Given the description of an element on the screen output the (x, y) to click on. 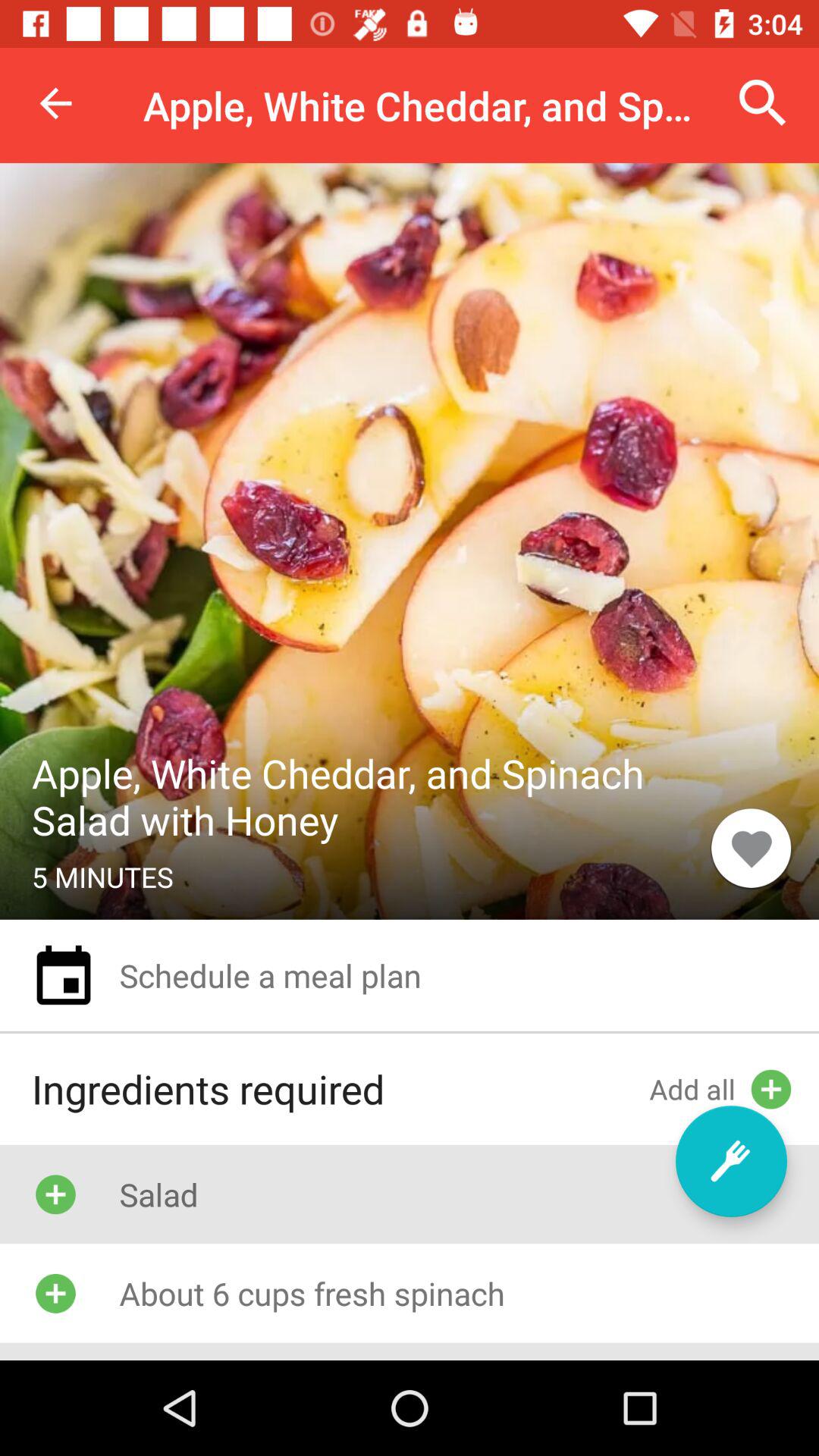
click the item at the top left corner (55, 103)
